Given the description of an element on the screen output the (x, y) to click on. 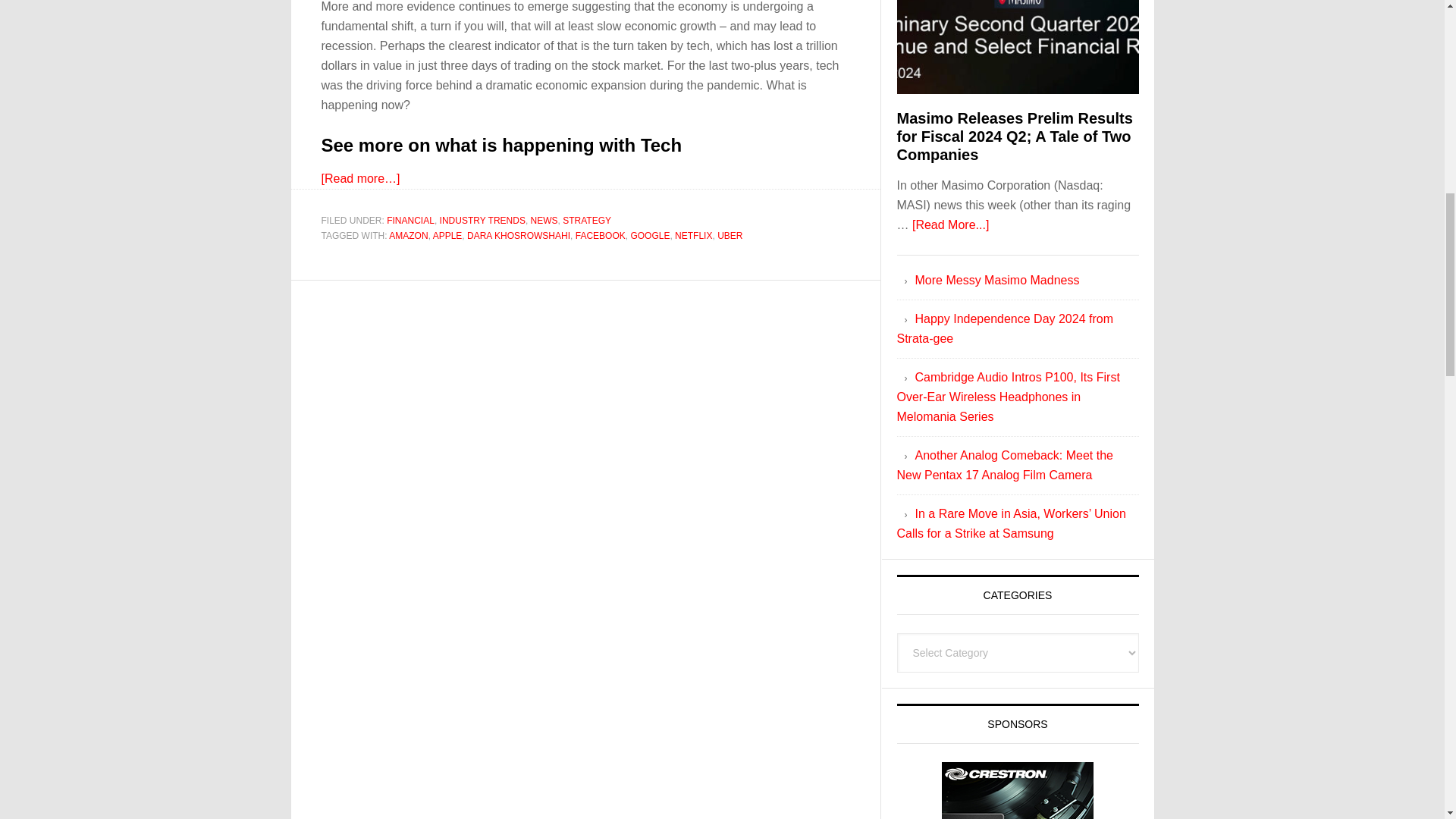
UBER (729, 235)
FACEBOOK (600, 235)
FINANCIAL (410, 220)
STRATEGY (586, 220)
GOOGLE (649, 235)
NEWS (544, 220)
AMAZON (408, 235)
APPLE (447, 235)
INDUSTRY TRENDS (482, 220)
NETFLIX (693, 235)
DARA KHOSROWSHAHI (518, 235)
